Given the description of an element on the screen output the (x, y) to click on. 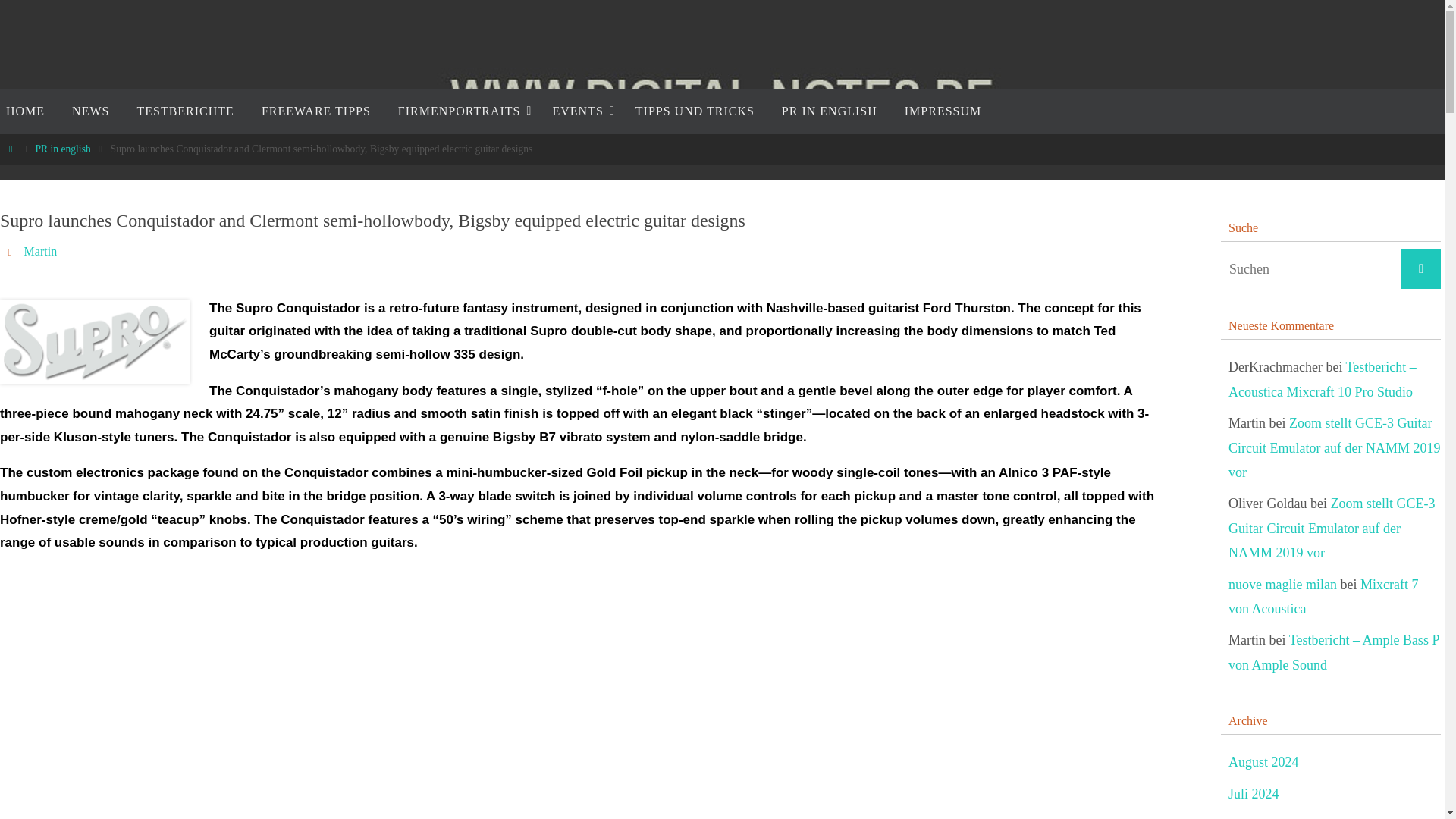
Juli 2024 (1253, 794)
Juni 2024 (1255, 818)
HOME (29, 111)
FIRMENPORTRAITS (461, 111)
NEWS (90, 111)
EVENTS (579, 111)
IMPRESSUM (942, 111)
FREEWARE TIPPS (315, 111)
www.digital-notes.de (722, 99)
August 2024 (1263, 762)
TESTBERICHTE (184, 111)
Mixcraft 7 von Acoustica (1323, 597)
